Given the description of an element on the screen output the (x, y) to click on. 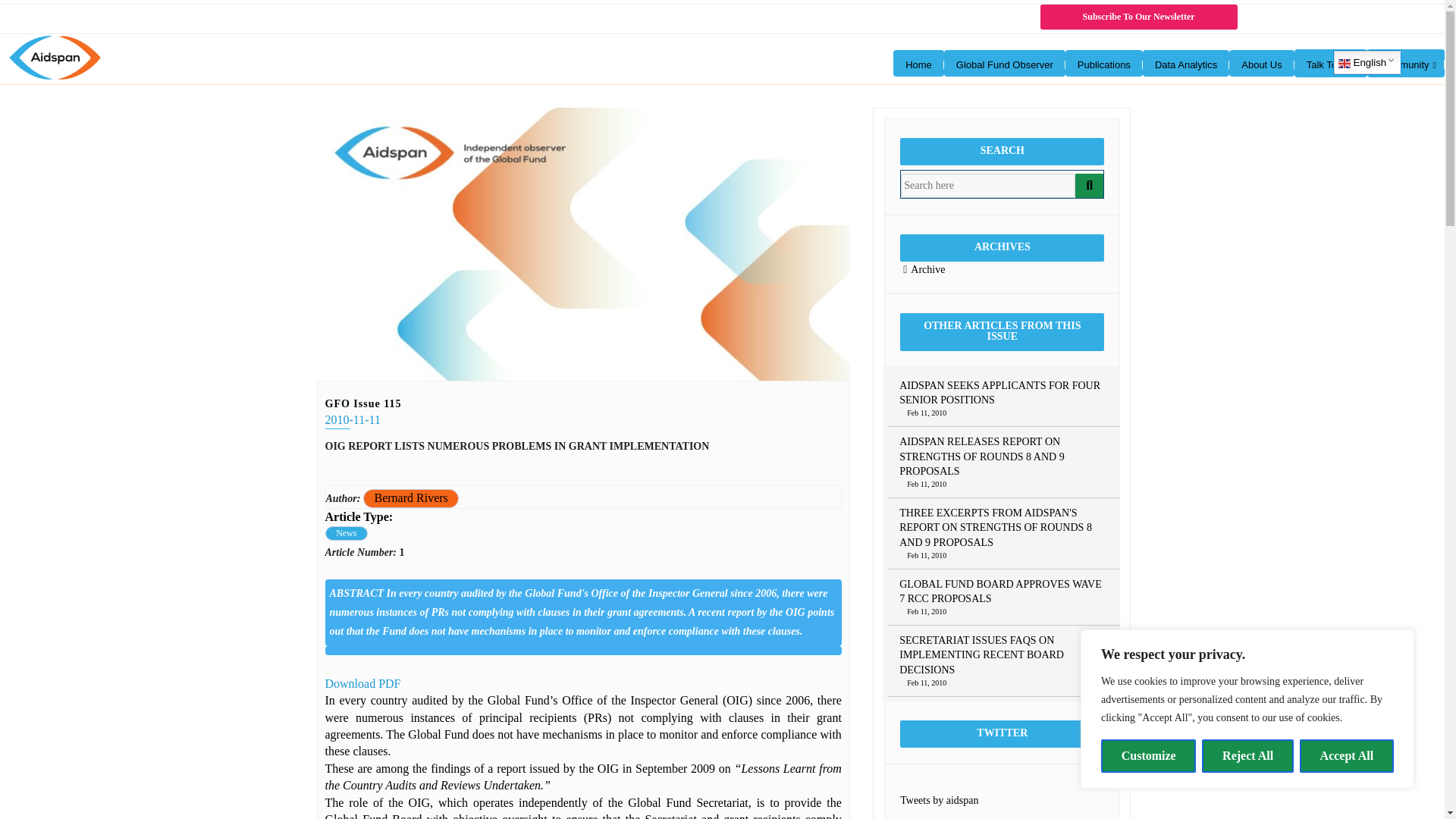
Talk To Us (1330, 62)
Accept All (1346, 756)
Publications (1103, 62)
Home (918, 62)
Data Analytics (1185, 62)
Search (988, 185)
Reject All (1248, 756)
Subscribe To Our Newsletter (1139, 16)
About Us (1261, 62)
Global Fund Observer (1004, 62)
Customize (1147, 756)
